Given the description of an element on the screen output the (x, y) to click on. 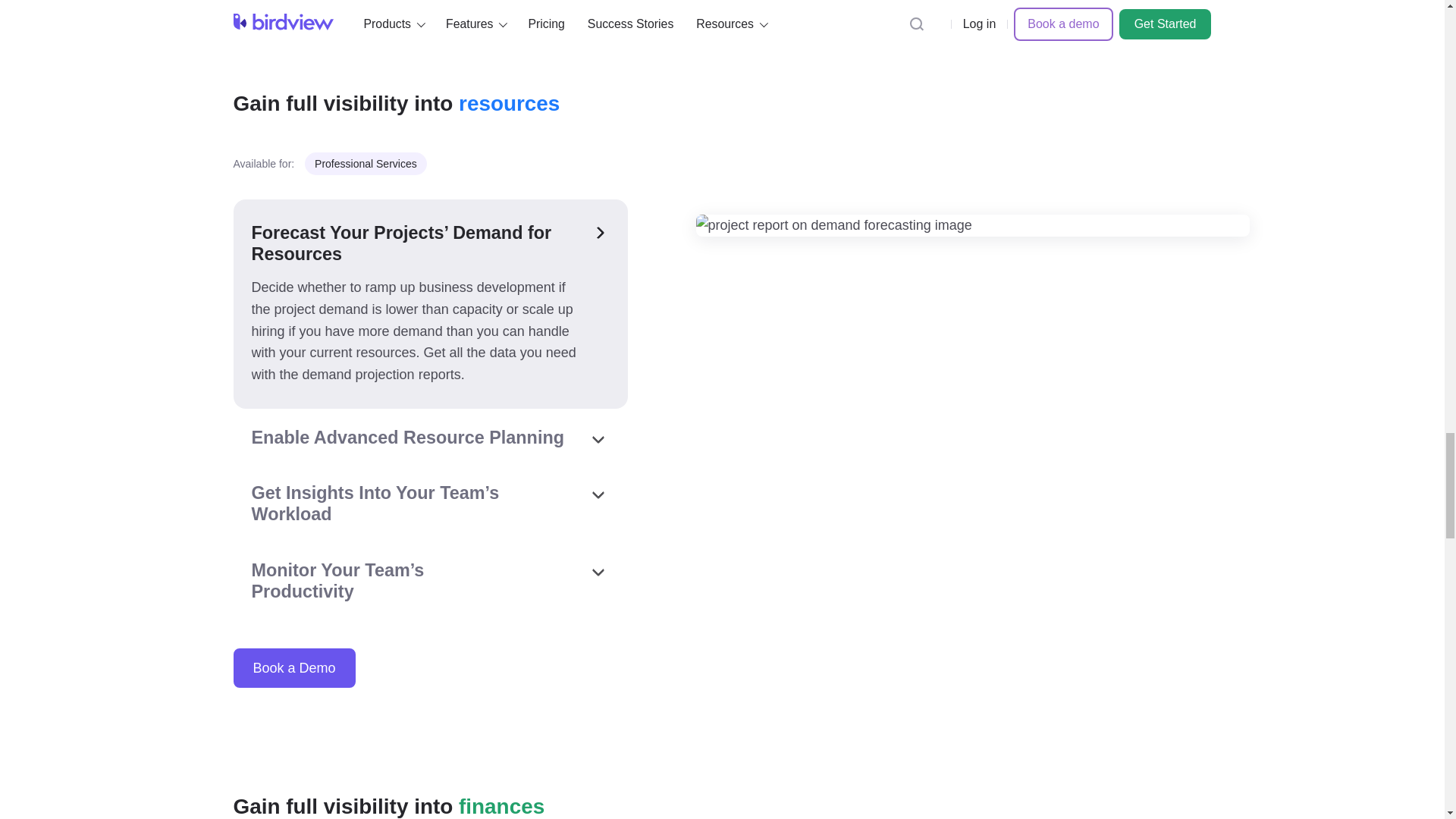
Professional Services (365, 163)
Book a Demo (293, 667)
